Given the description of an element on the screen output the (x, y) to click on. 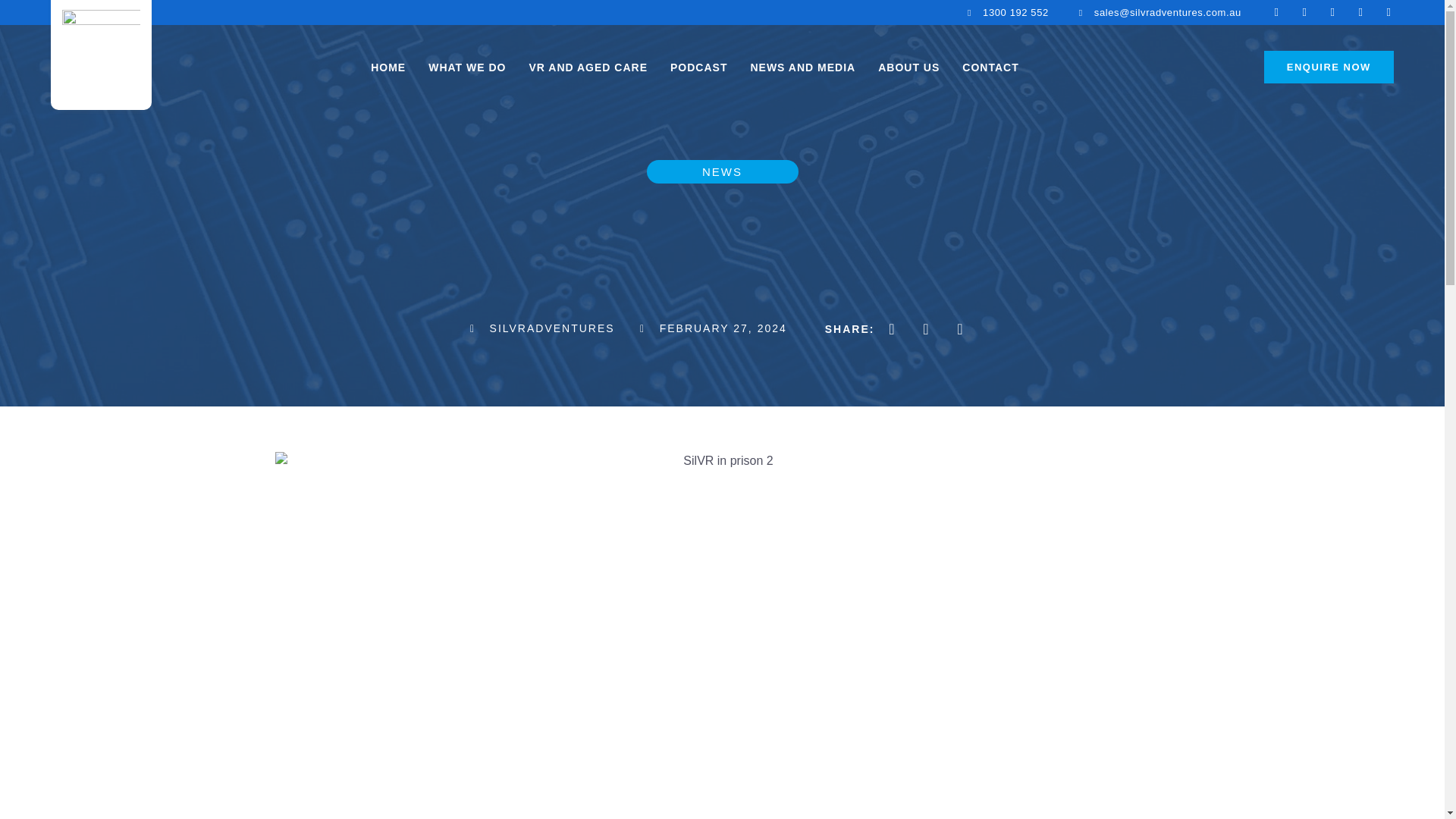
ENQUIRE NOW (1328, 66)
1300 192 552 (1003, 12)
ABOUT US (908, 67)
CONTACT (989, 67)
HOME (388, 67)
NEWS AND MEDIA (802, 67)
WHAT WE DO (466, 67)
PODCAST (697, 67)
VR AND AGED CARE (587, 67)
